Given the description of an element on the screen output the (x, y) to click on. 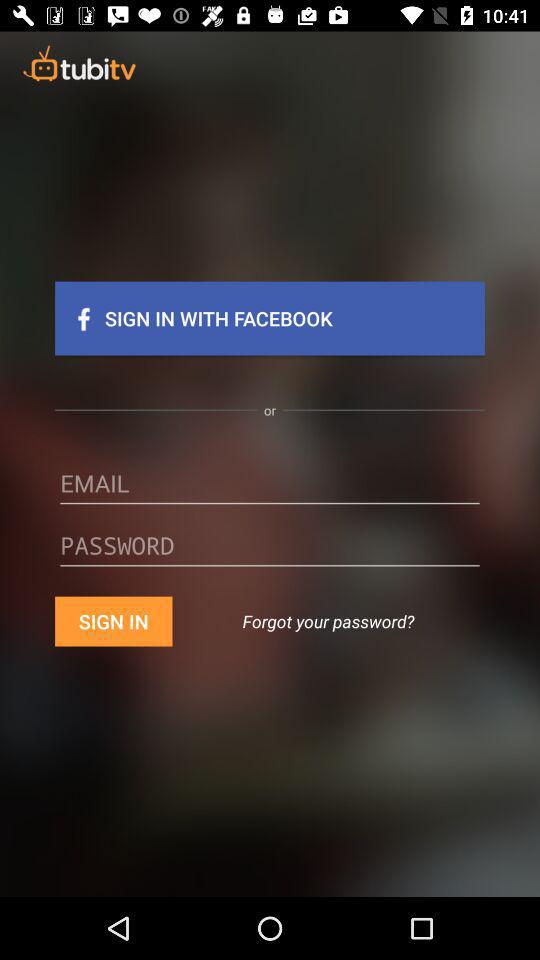
turn on the forgot your password? icon (328, 621)
